Given the description of an element on the screen output the (x, y) to click on. 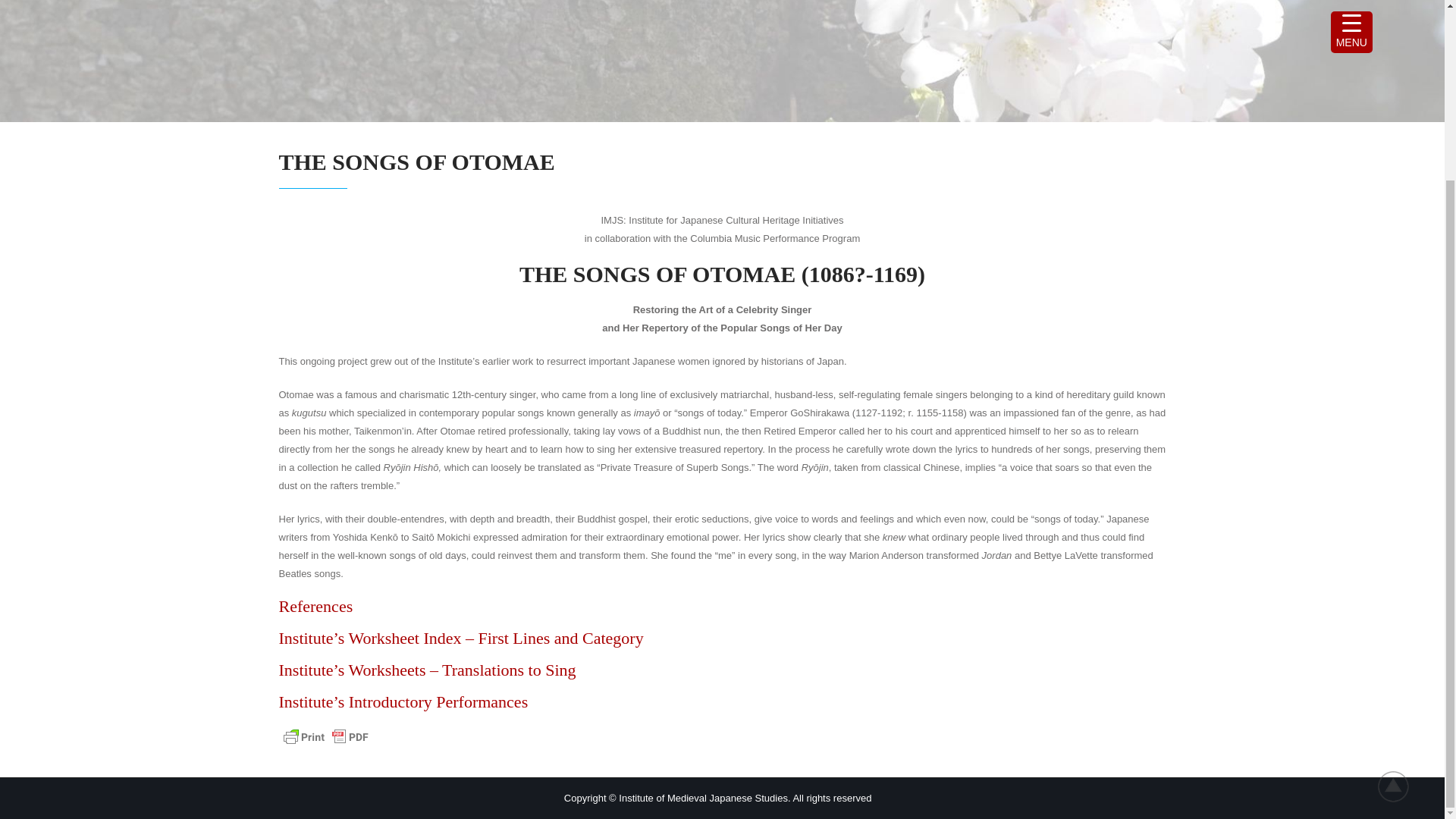
Top of Page (1401, 564)
References (316, 606)
